Given the description of an element on the screen output the (x, y) to click on. 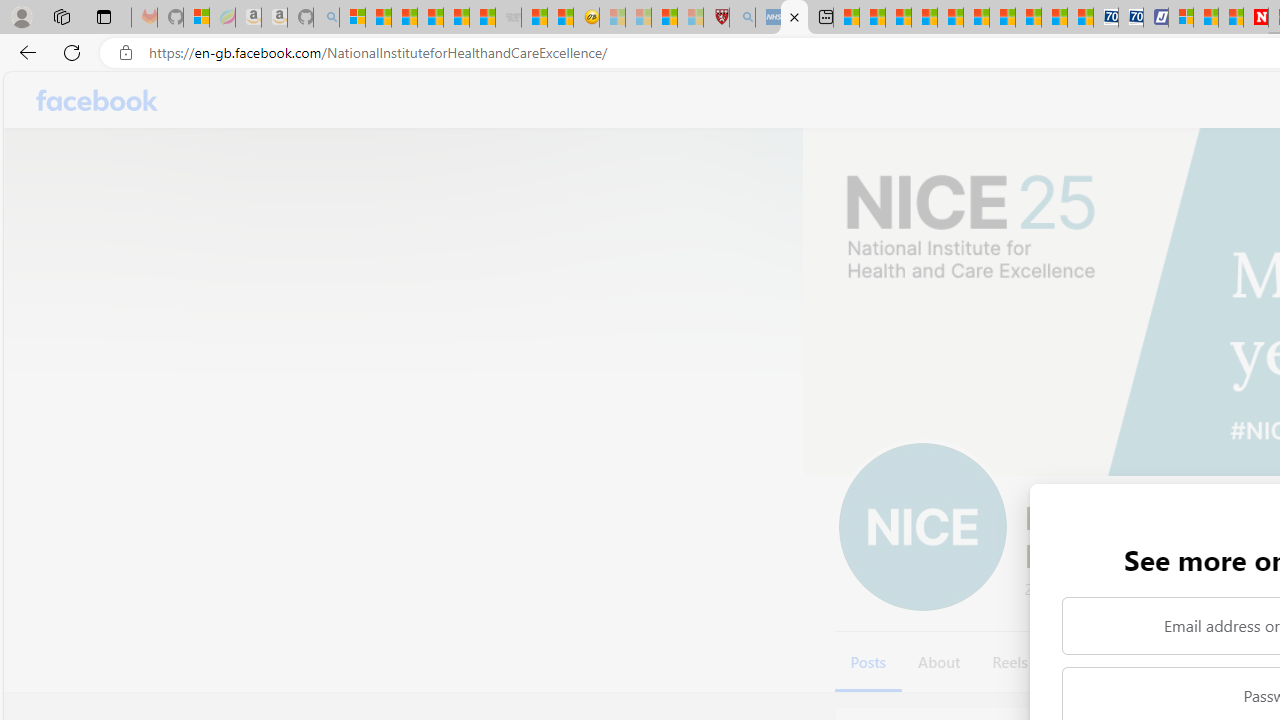
12 Popular Science Lies that Must be Corrected - Sleeping (690, 17)
Climate Damage Becomes Too Severe To Reverse (923, 17)
Newsweek - News, Analysis, Politics, Business, Technology (1256, 17)
Cheap Car Rentals - Save70.com (1105, 17)
World - MSN (898, 17)
Cheap Hotels - Save70.com (1130, 17)
